Given the description of an element on the screen output the (x, y) to click on. 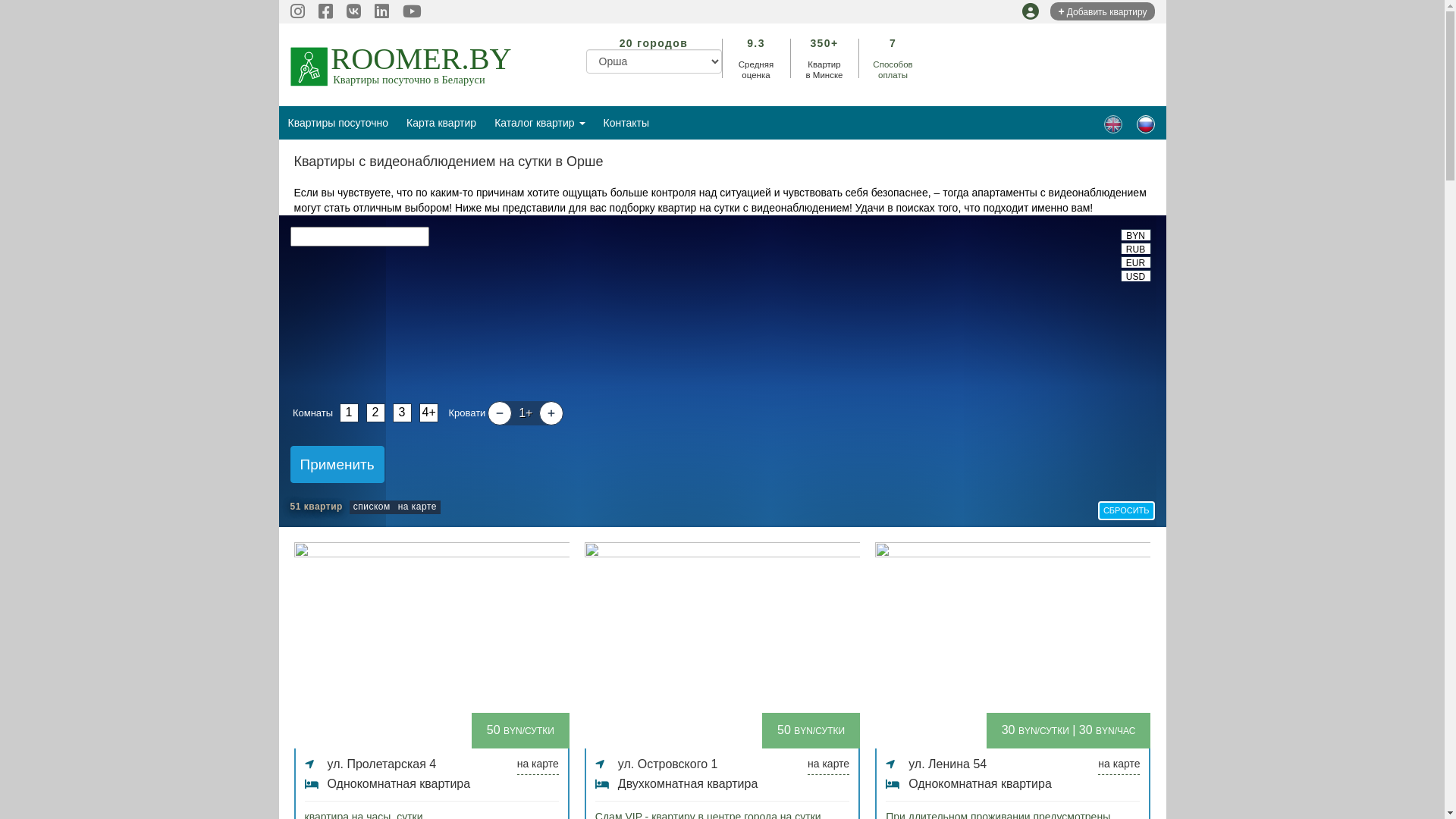
CCTV Element type: hover (1113, 124)
